Given the description of an element on the screen output the (x, y) to click on. 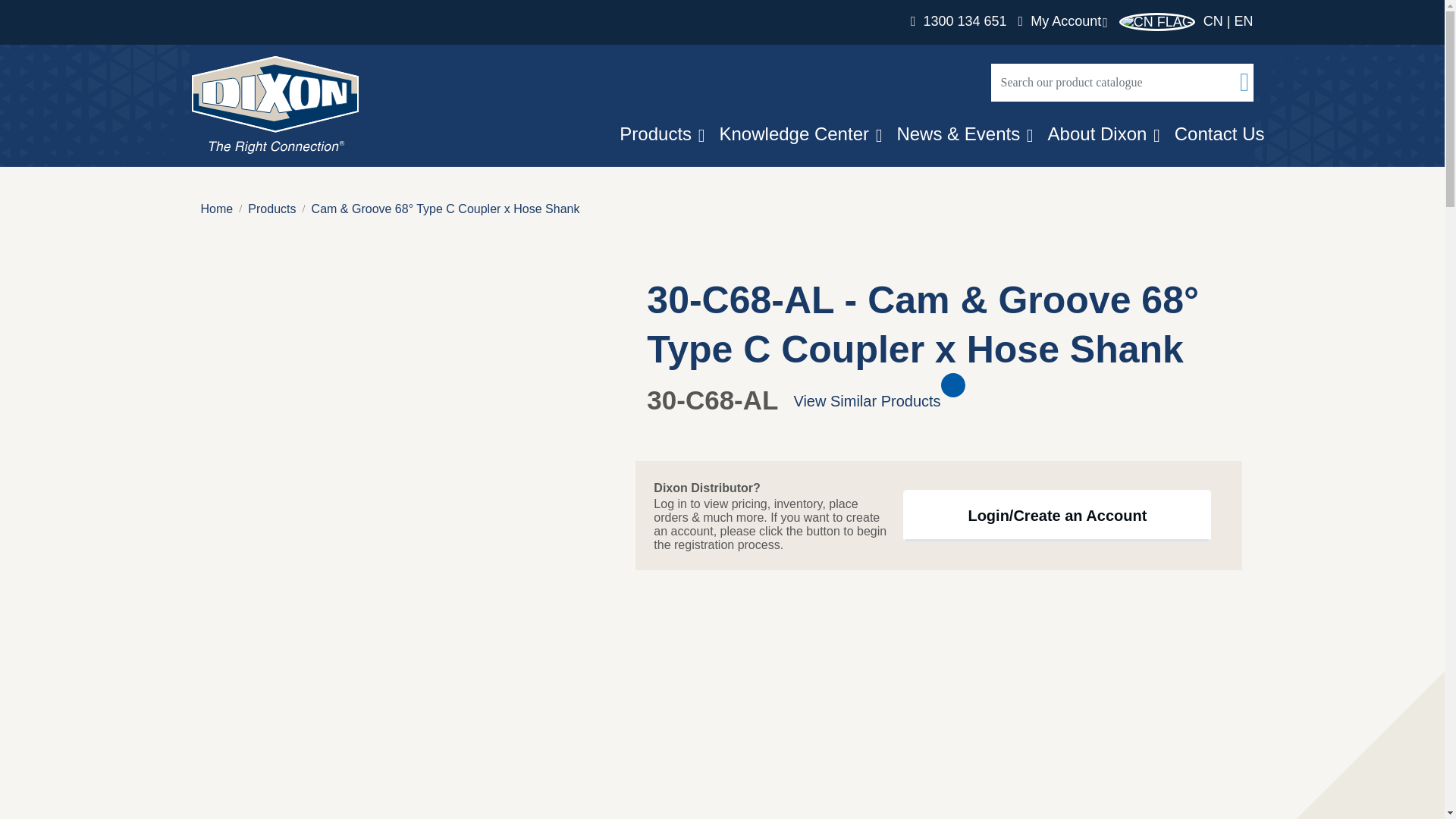
Centro de Conocimiento (794, 133)
Skip to main content (721, 1)
Products (655, 133)
Contact Us (1219, 133)
Home (274, 104)
1300 134 651 (959, 21)
View Similar Products (903, 401)
Home (216, 208)
Products (271, 208)
Knowledge Center (794, 133)
About Dixon (1097, 133)
